Given the description of an element on the screen output the (x, y) to click on. 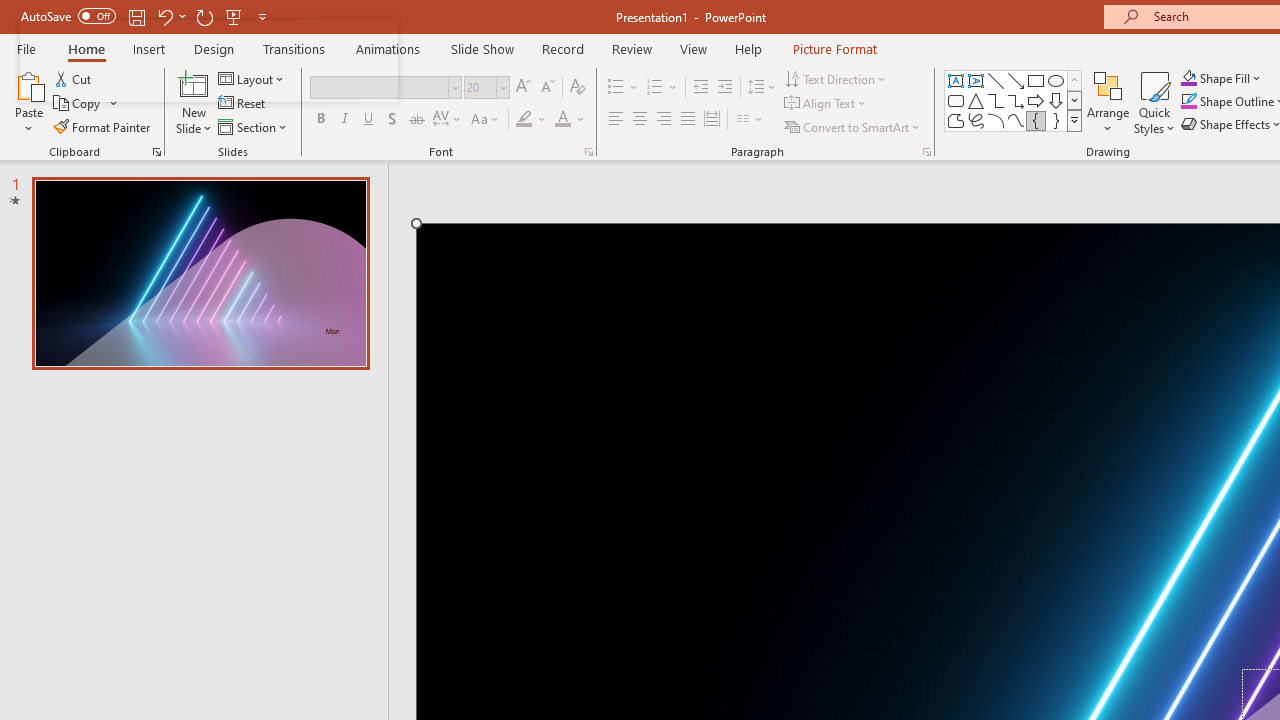
Align Text (826, 103)
Customize Quick Access Toolbar (262, 15)
Paste (28, 84)
Font... (588, 151)
Increase Font Size (522, 87)
Insert (149, 48)
Paste (28, 102)
Copy (85, 103)
Font Color Red (562, 119)
Arrow: Right (1035, 100)
Left Brace (1035, 120)
Character Spacing (447, 119)
From Beginning (234, 15)
Decrease Indent (700, 87)
Reset (243, 103)
